Given the description of an element on the screen output the (x, y) to click on. 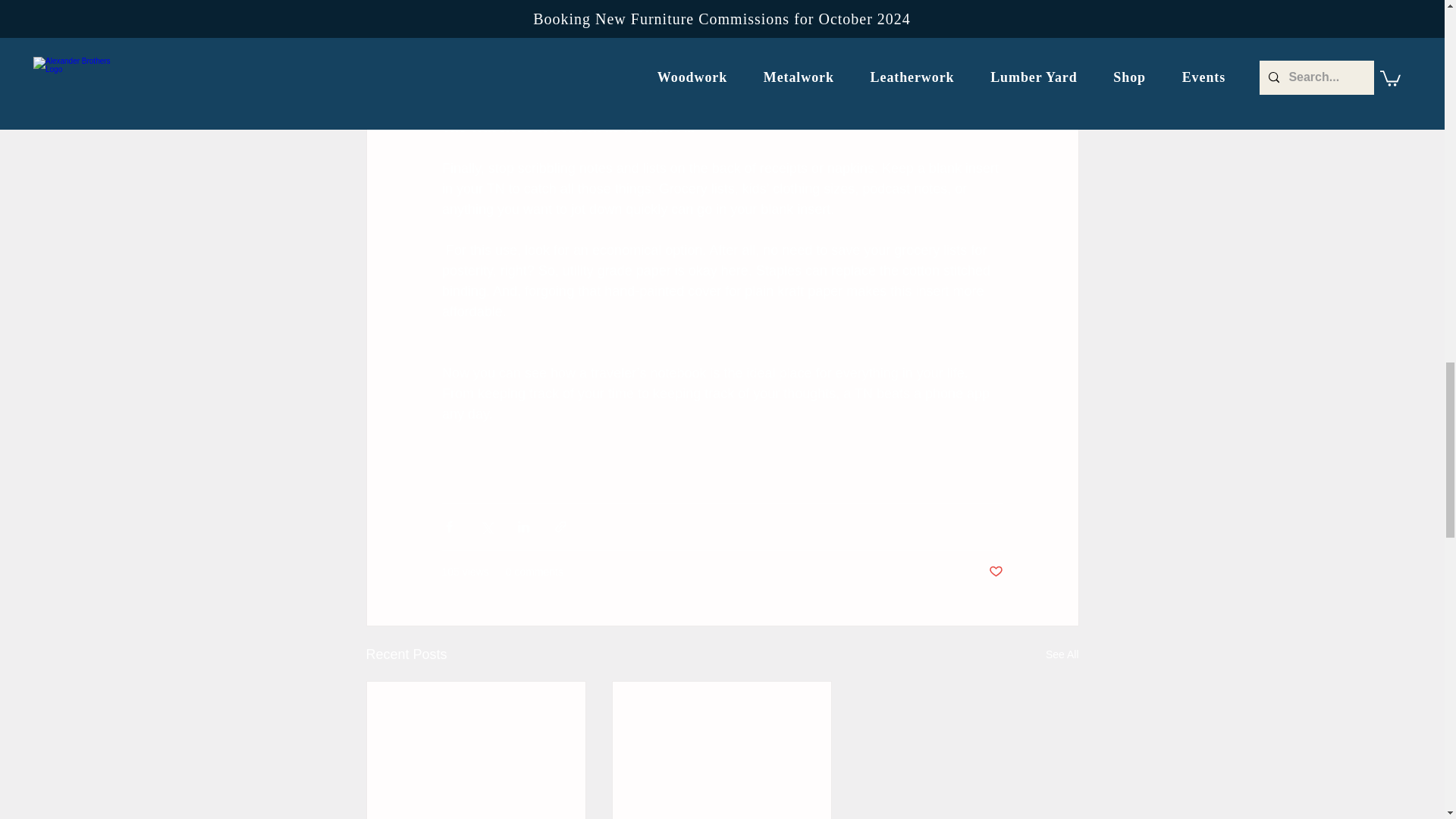
Post not marked as liked (995, 571)
See All (1061, 654)
